Given the description of an element on the screen output the (x, y) to click on. 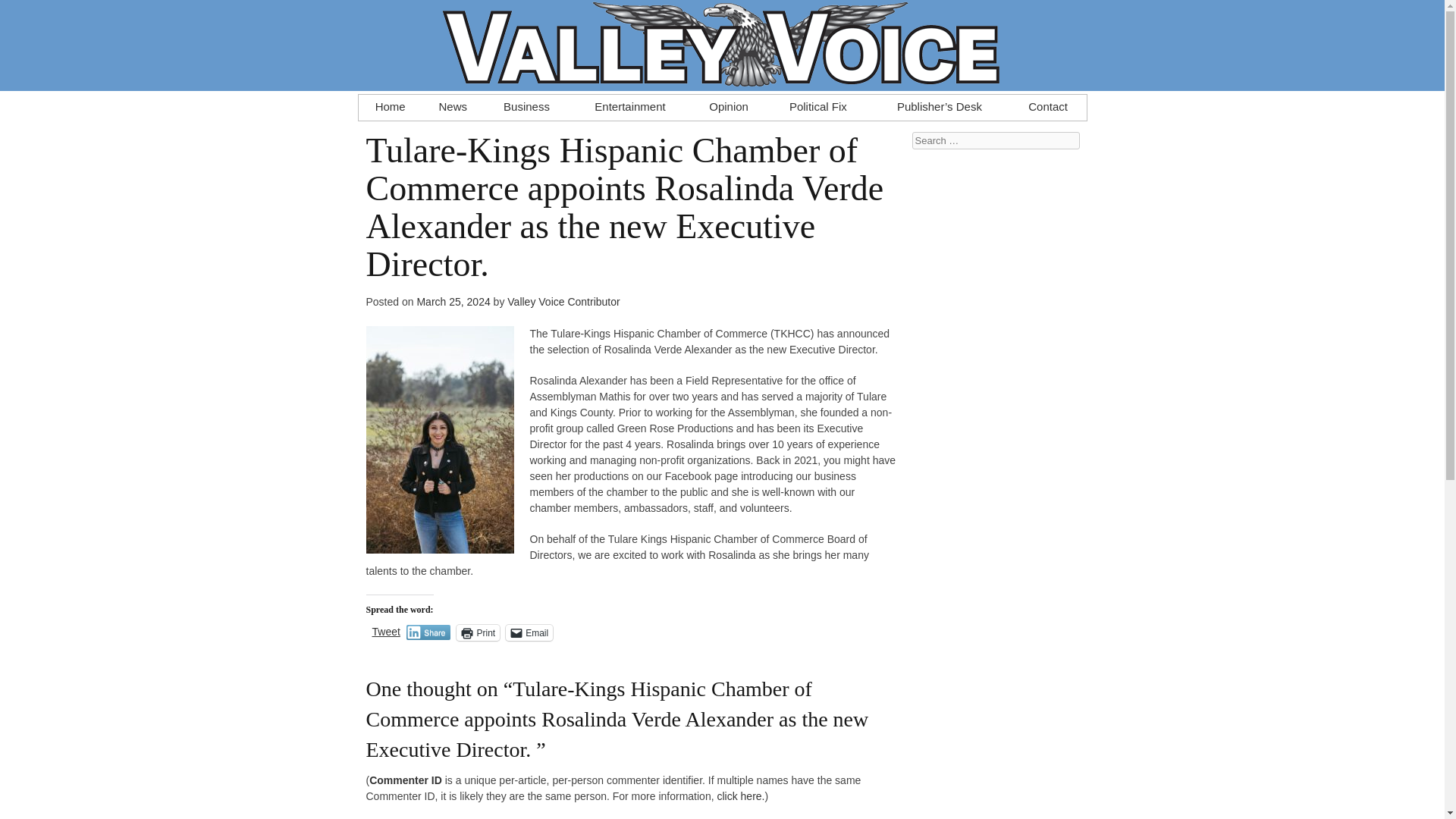
Business (526, 103)
Email (529, 632)
Tweet (384, 631)
Print (478, 632)
Contact (1048, 103)
Share (428, 631)
Home (390, 103)
Click to print (478, 632)
News (452, 103)
